Given the description of an element on the screen output the (x, y) to click on. 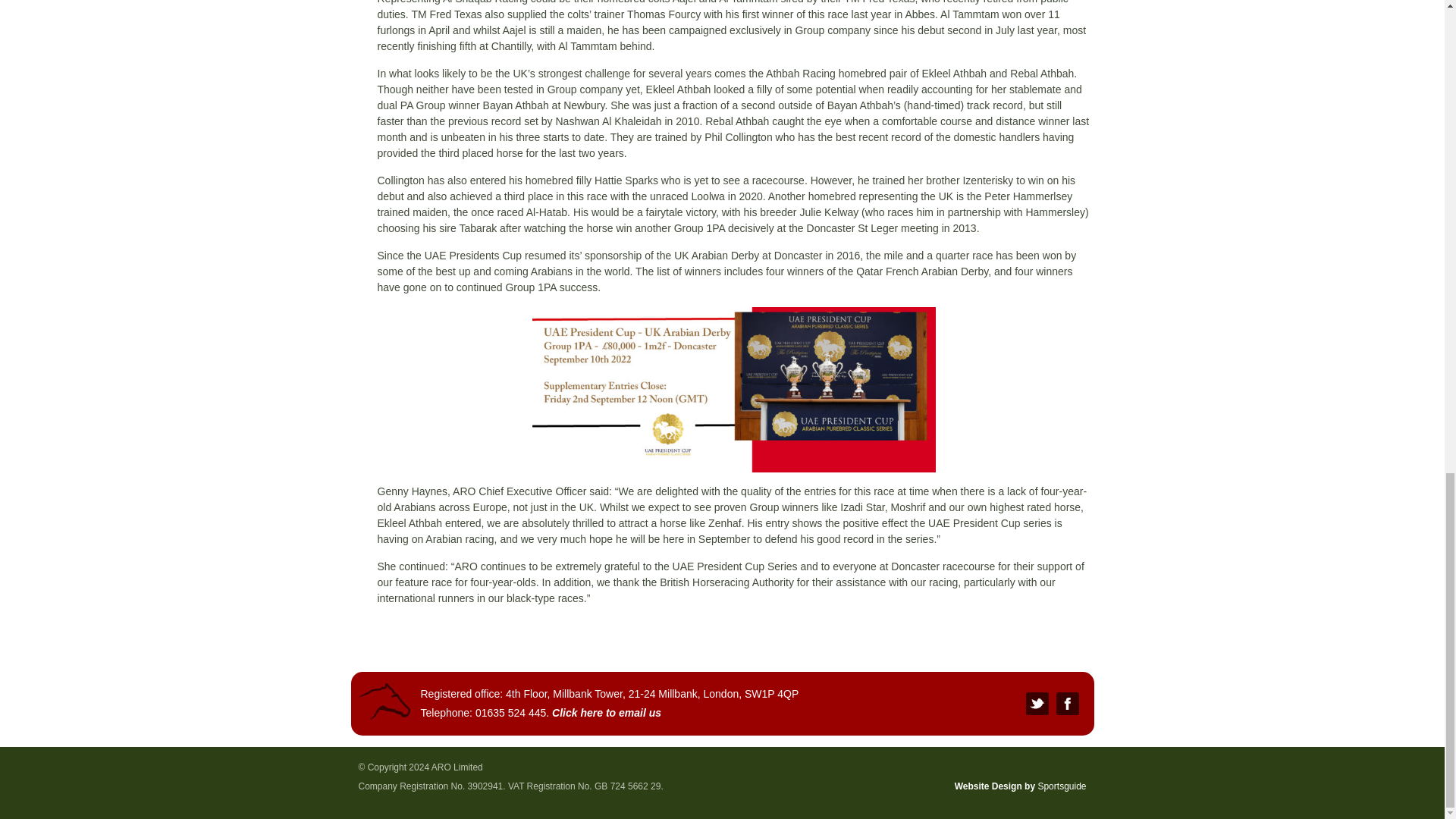
Click here to email us (606, 712)
